Given the description of an element on the screen output the (x, y) to click on. 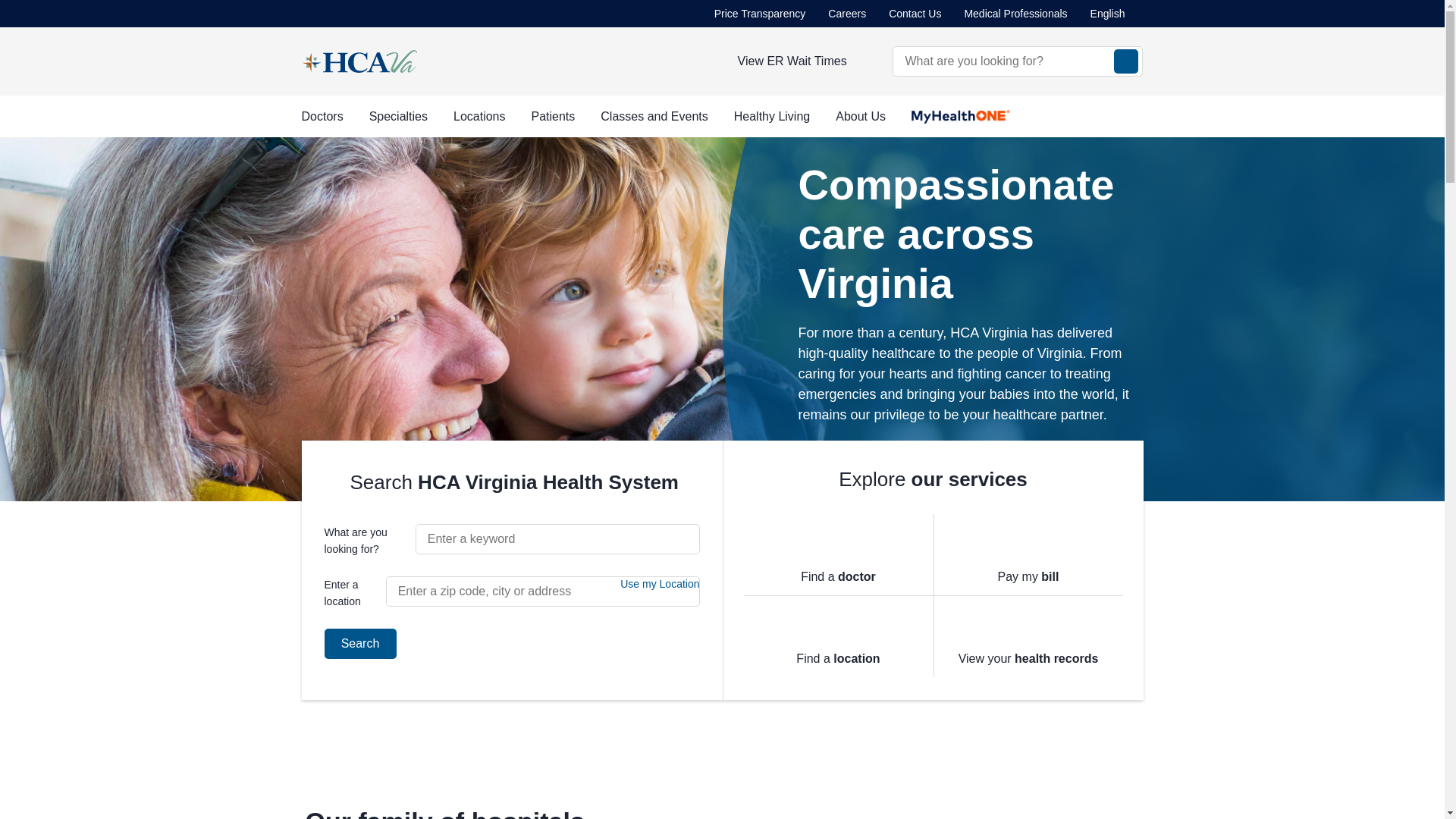
Skip to Content (3, 3)
Medical Professionals (1015, 13)
Careers (847, 13)
Specialties (398, 116)
Price Transparency (760, 13)
Contact Us (914, 13)
Doctors (322, 116)
English (1116, 13)
 View ER Wait Times  (792, 61)
